Given the description of an element on the screen output the (x, y) to click on. 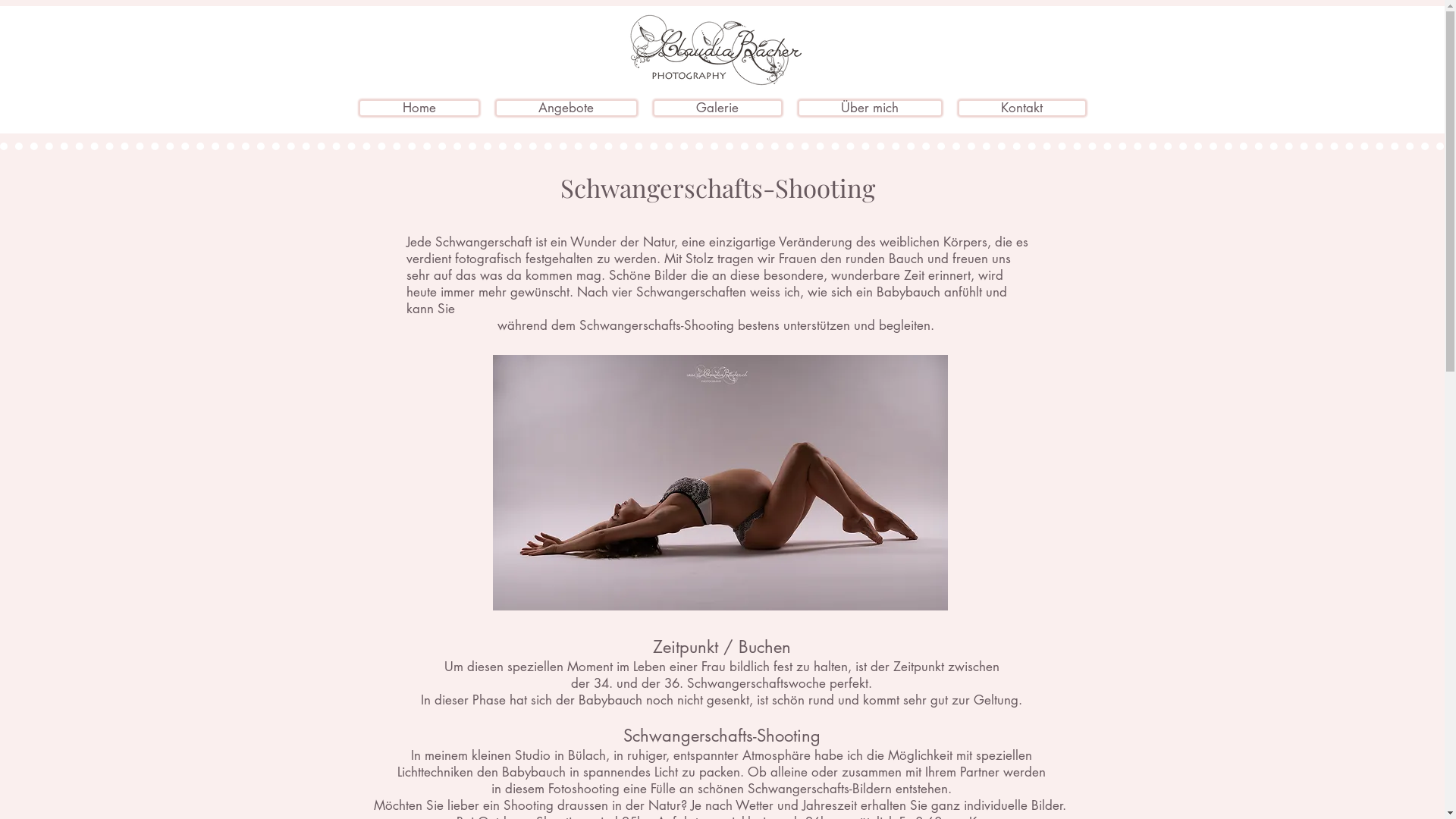
Home Element type: text (418, 107)
Kontakt Element type: text (1021, 107)
